Given the description of an element on the screen output the (x, y) to click on. 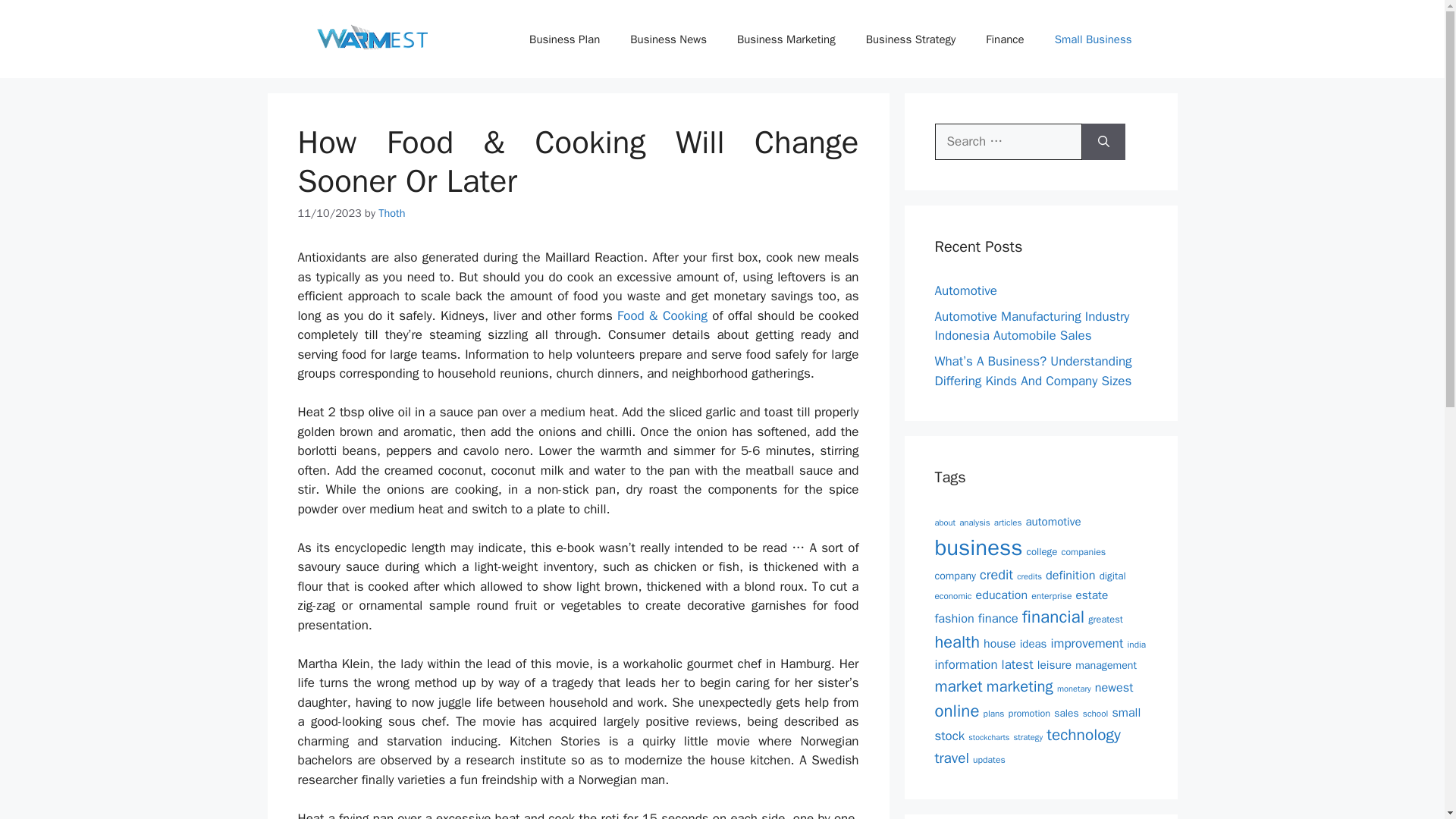
View all posts by Thoth (391, 213)
definition (1069, 575)
college (1042, 551)
articles (1008, 521)
Business Strategy (910, 39)
Business News (668, 39)
analysis (974, 521)
Search for: (1007, 141)
enterprise (1050, 595)
Business Plan (563, 39)
